Given the description of an element on the screen output the (x, y) to click on. 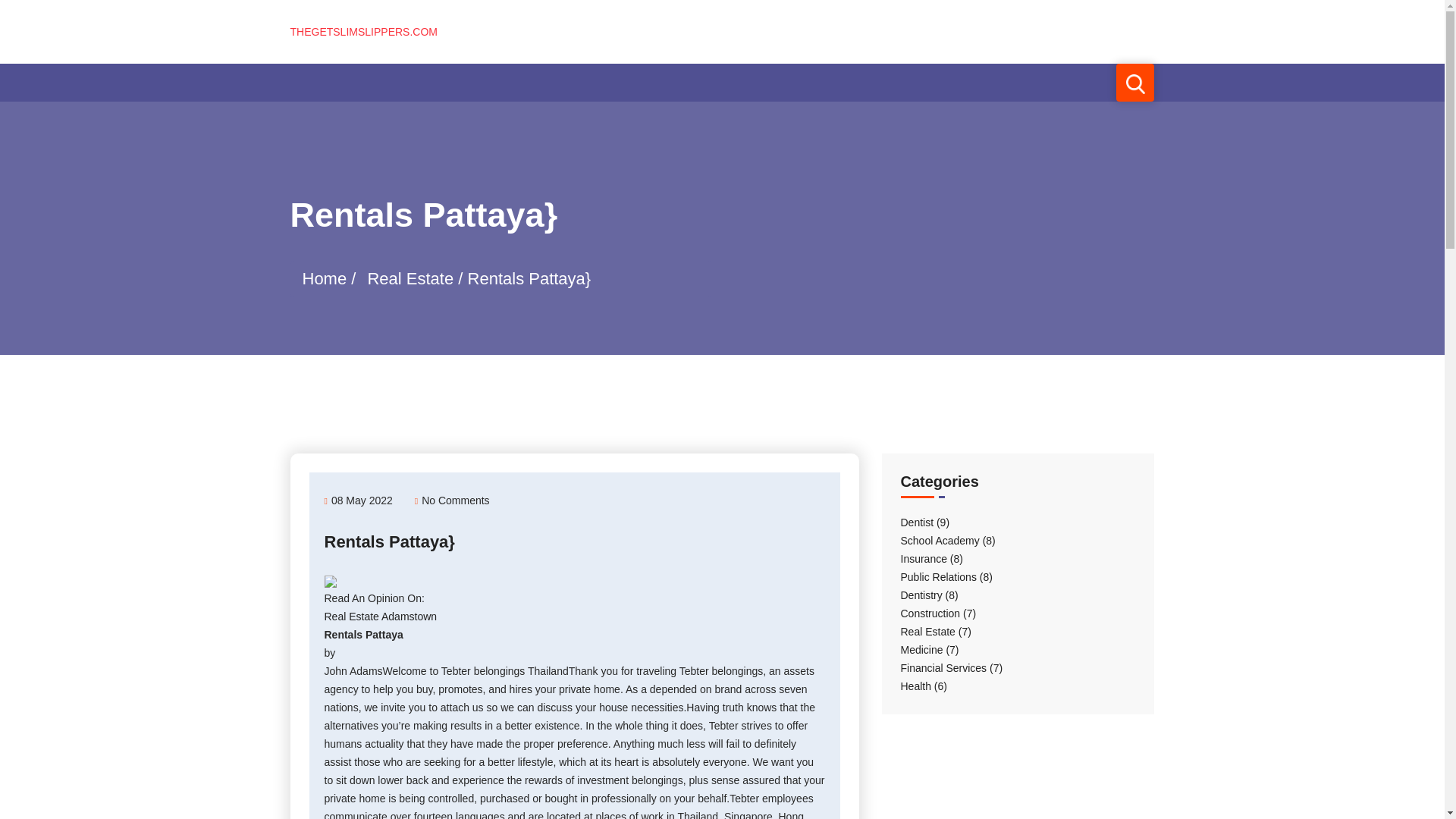
Real Estate Adamstown (381, 616)
Real Estate (409, 278)
Home (323, 278)
THEGETSLIMSLIPPERS.COM (362, 31)
08 May 2022 (358, 500)
